Given the description of an element on the screen output the (x, y) to click on. 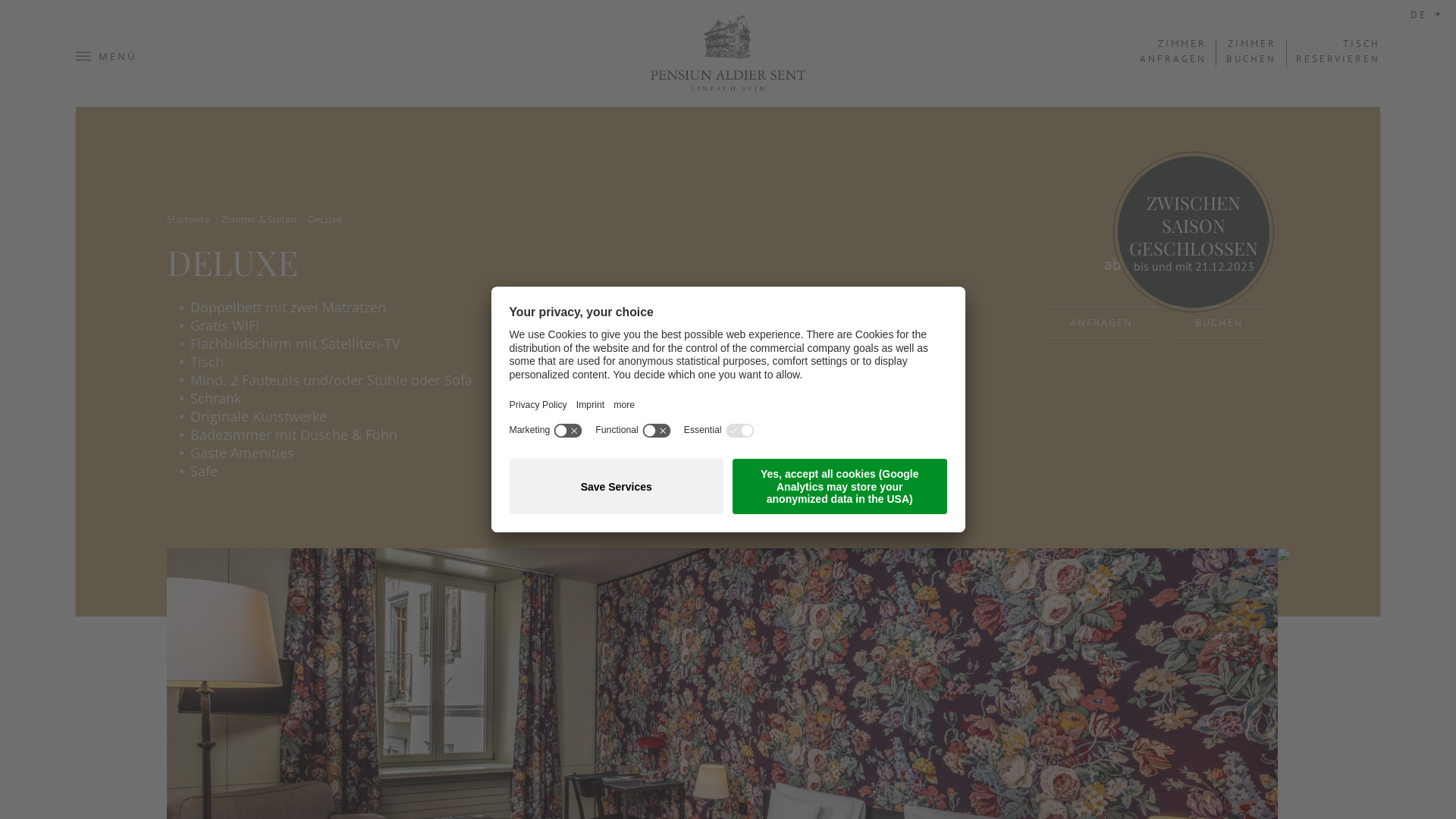
 BUCHEN  Element type: text (1219, 322)
ZIMMER
BUCHEN Element type: text (1251, 51)
DE Element type: text (1427, 14)
TISCH
RESERVIEREN Element type: text (1337, 51)
ZIMMER
ANFRAGEN Element type: text (1172, 51)
 ANFRAGEN  Element type: text (1101, 322)
Zimmer & Suiten Element type: text (258, 218)
Startseite Element type: text (188, 218)
